Given the description of an element on the screen output the (x, y) to click on. 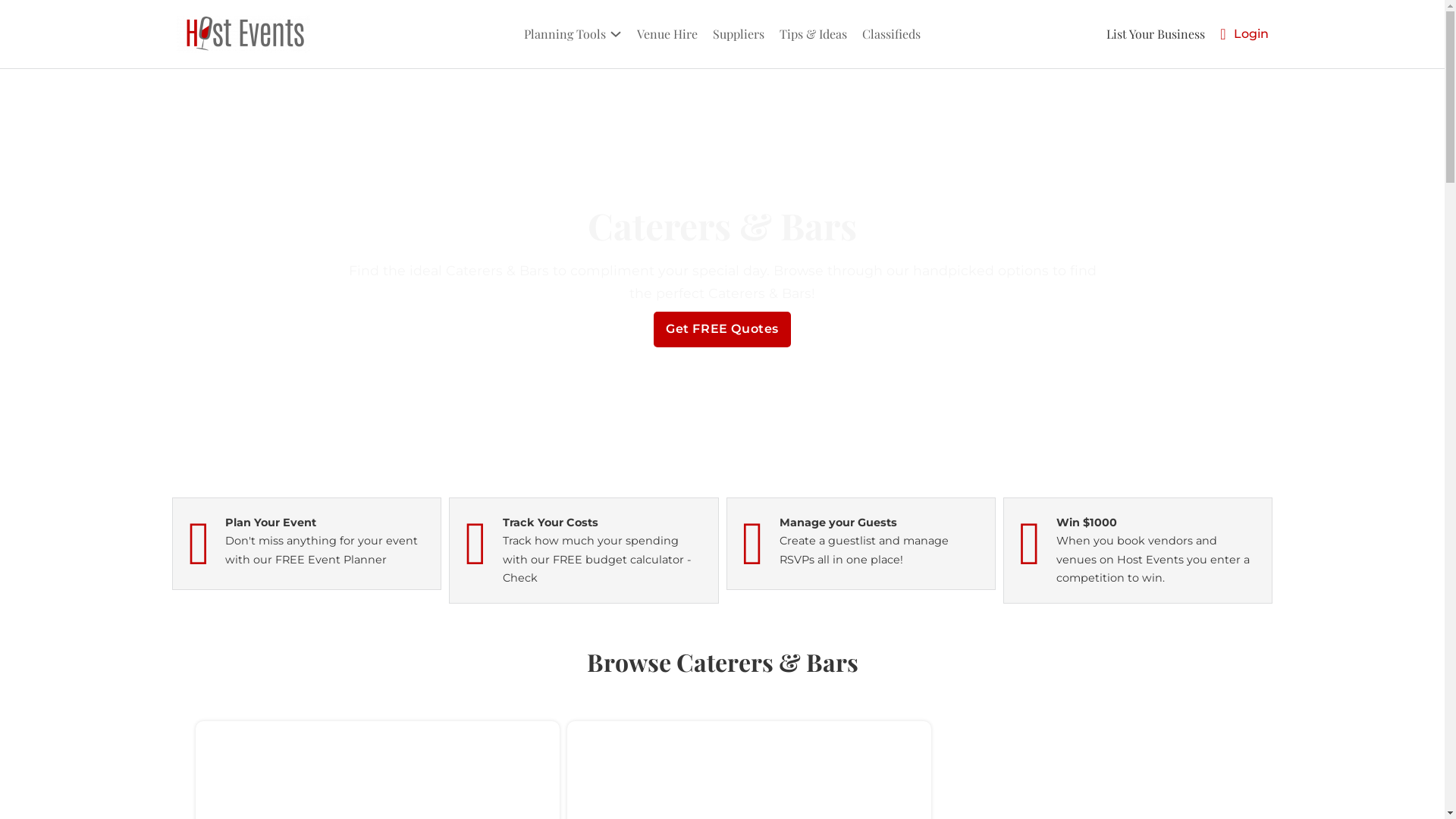
List Your Business Element type: text (1155, 33)
Login Element type: text (1250, 33)
Venue Hire Element type: text (667, 33)
Classifieds Element type: text (891, 33)
Tips & Ideas Element type: text (812, 33)
Planning Tools Element type: text (564, 33)
Suppliers Element type: text (738, 33)
